Given the description of an element on the screen output the (x, y) to click on. 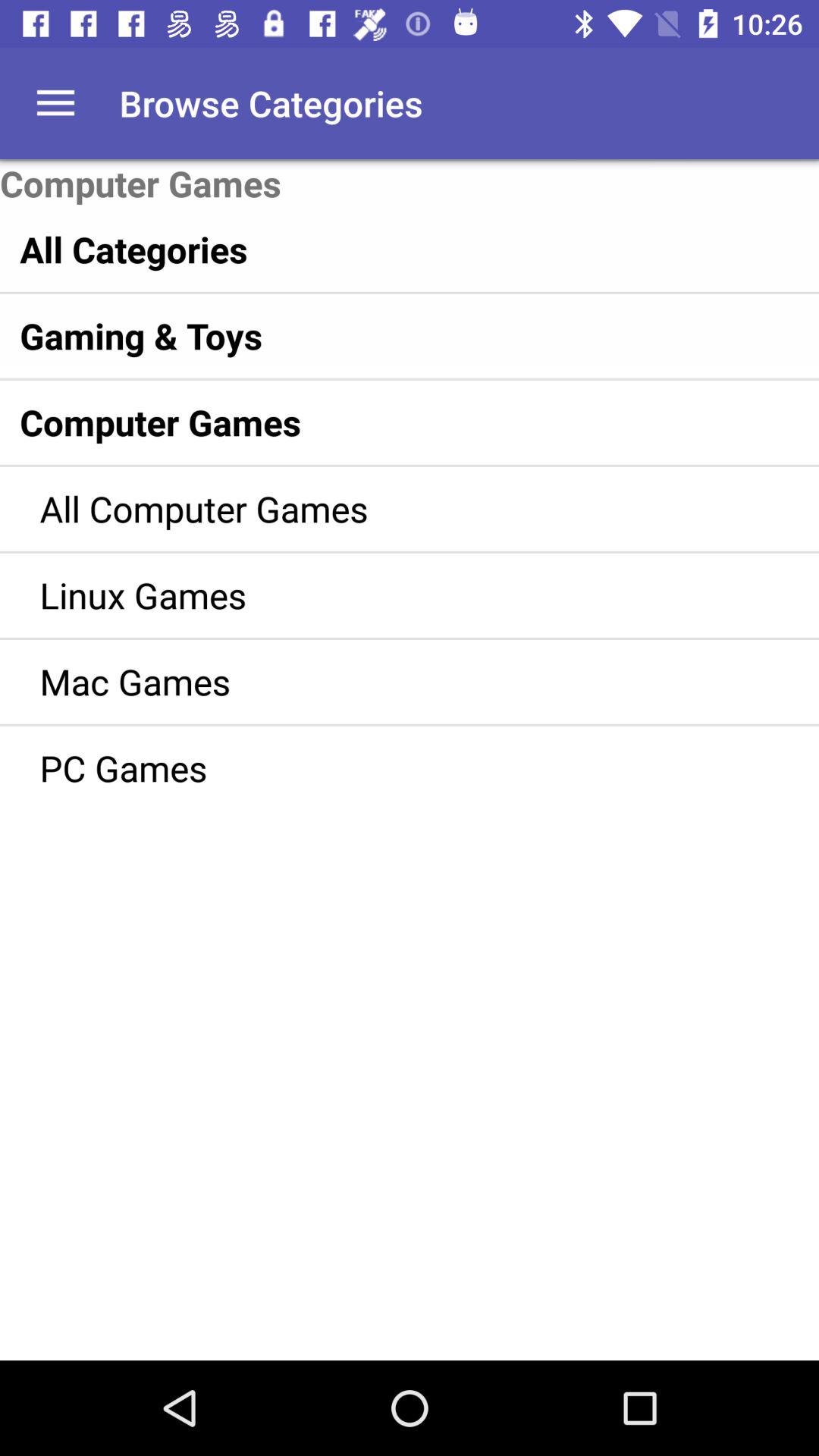
turn on item to the left of browse categories icon (55, 103)
